Given the description of an element on the screen output the (x, y) to click on. 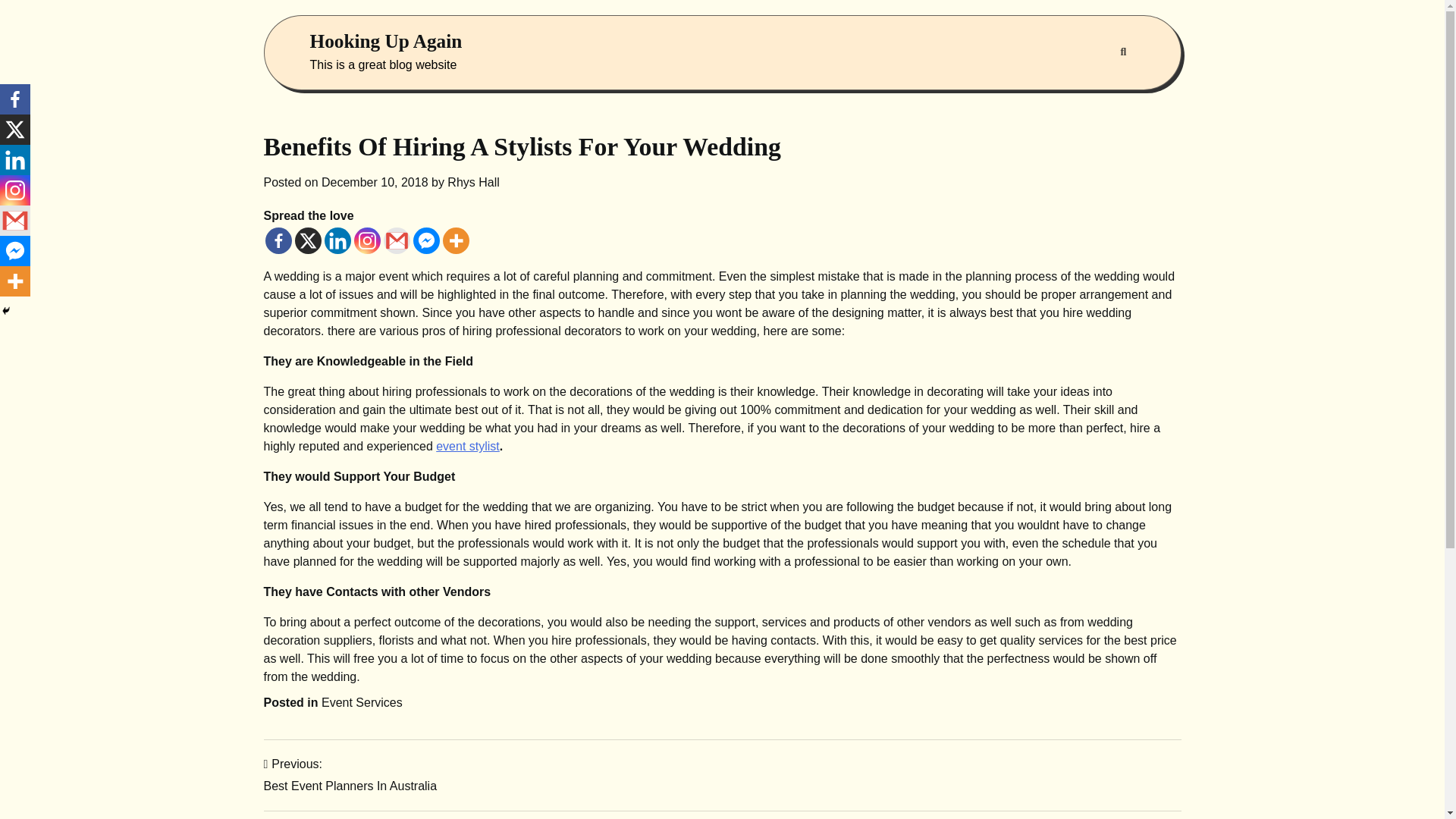
X (15, 129)
event stylist (467, 445)
Google Gmail (397, 240)
Search (1123, 51)
More (15, 281)
Linkedin (337, 240)
Instagram (15, 190)
Facebook (15, 99)
Event Services (362, 702)
Linkedin (15, 159)
